Given the description of an element on the screen output the (x, y) to click on. 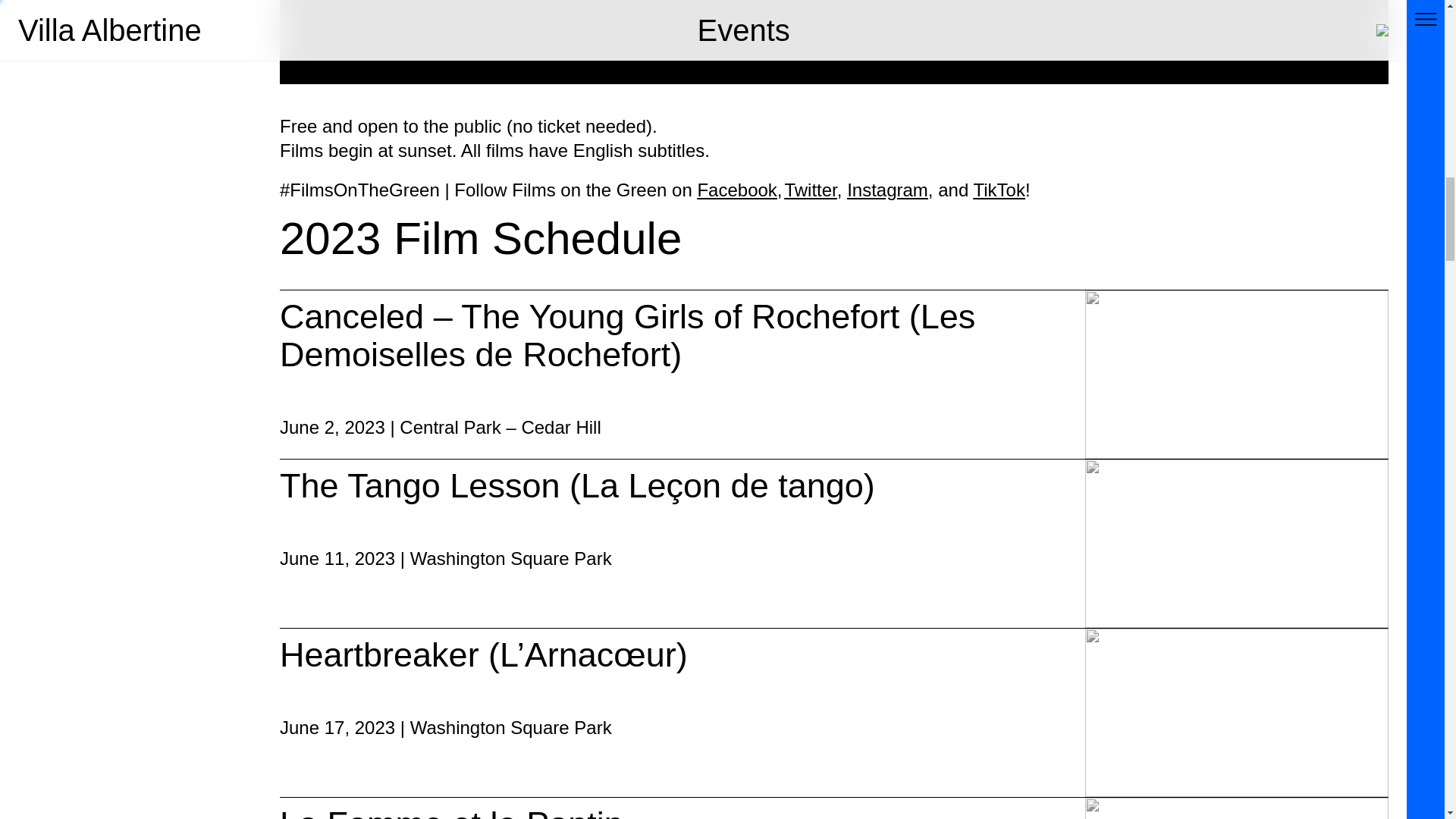
Instagram (887, 189)
YouTube video player (834, 41)
TikTok (998, 189)
Twitter (809, 189)
Facebook (736, 189)
